Given the description of an element on the screen output the (x, y) to click on. 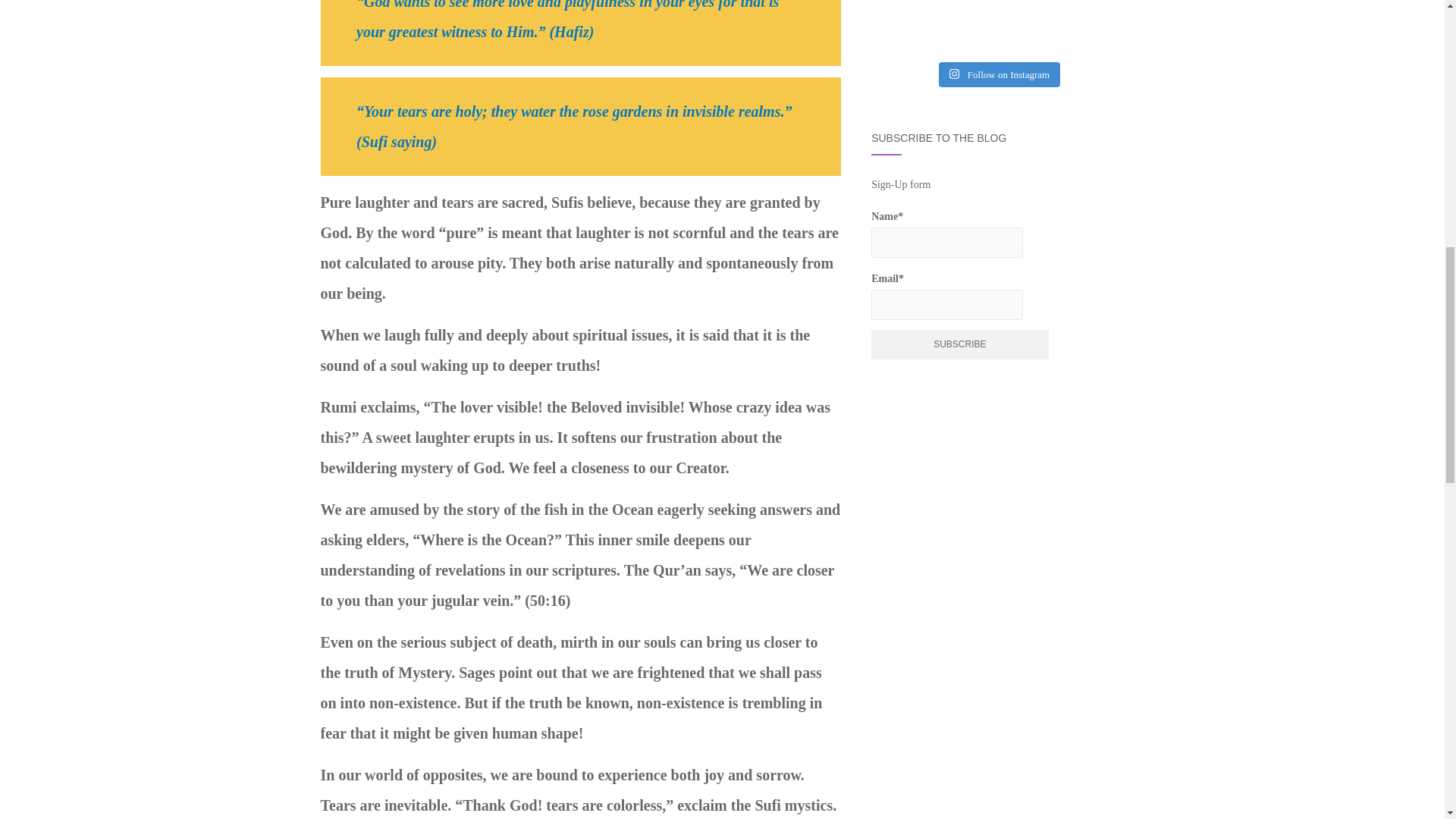
Subscribe (959, 344)
Subscribe (959, 344)
Follow on Instagram (999, 74)
